Given the description of an element on the screen output the (x, y) to click on. 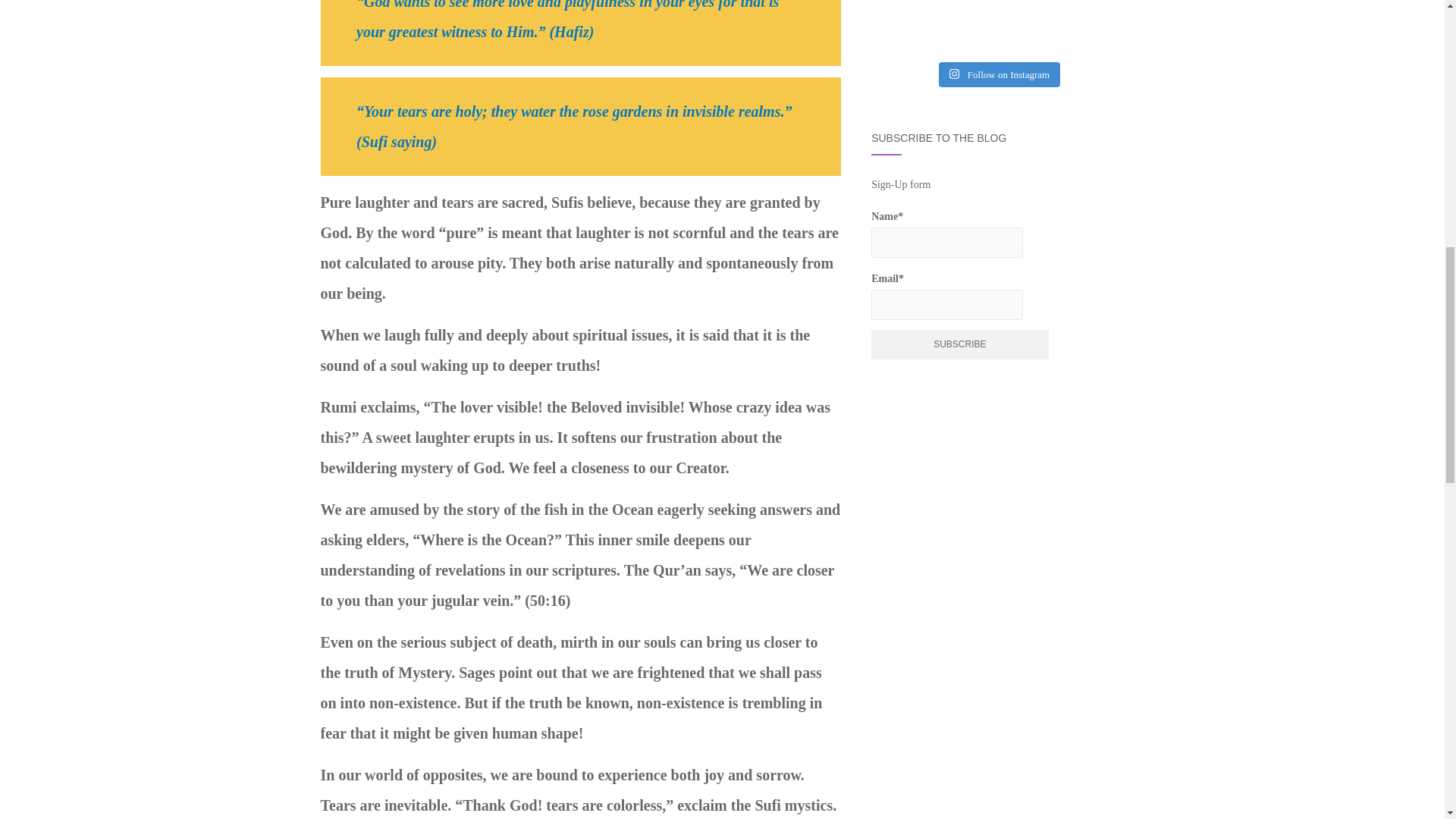
Subscribe (959, 344)
Subscribe (959, 344)
Follow on Instagram (999, 74)
